Given the description of an element on the screen output the (x, y) to click on. 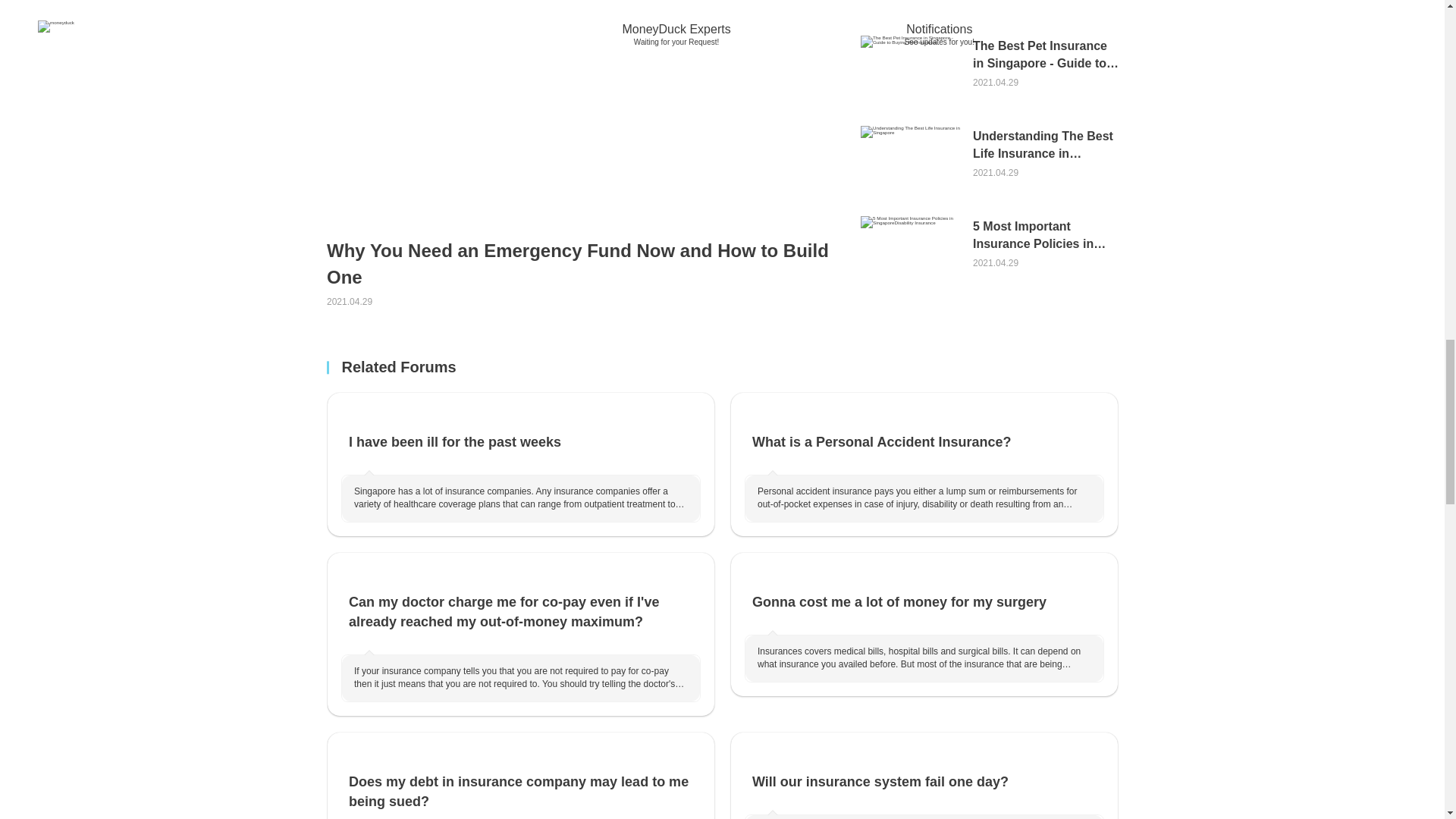
Does my debt in insurance company may lead to me being sued? (520, 778)
Will our insurance system fail one day? (924, 772)
I have been ill for the past weeks (520, 432)
Gonna cost me a lot of money for my surgery (924, 592)
What is a Personal Accident Insurance? (924, 432)
